Given the description of an element on the screen output the (x, y) to click on. 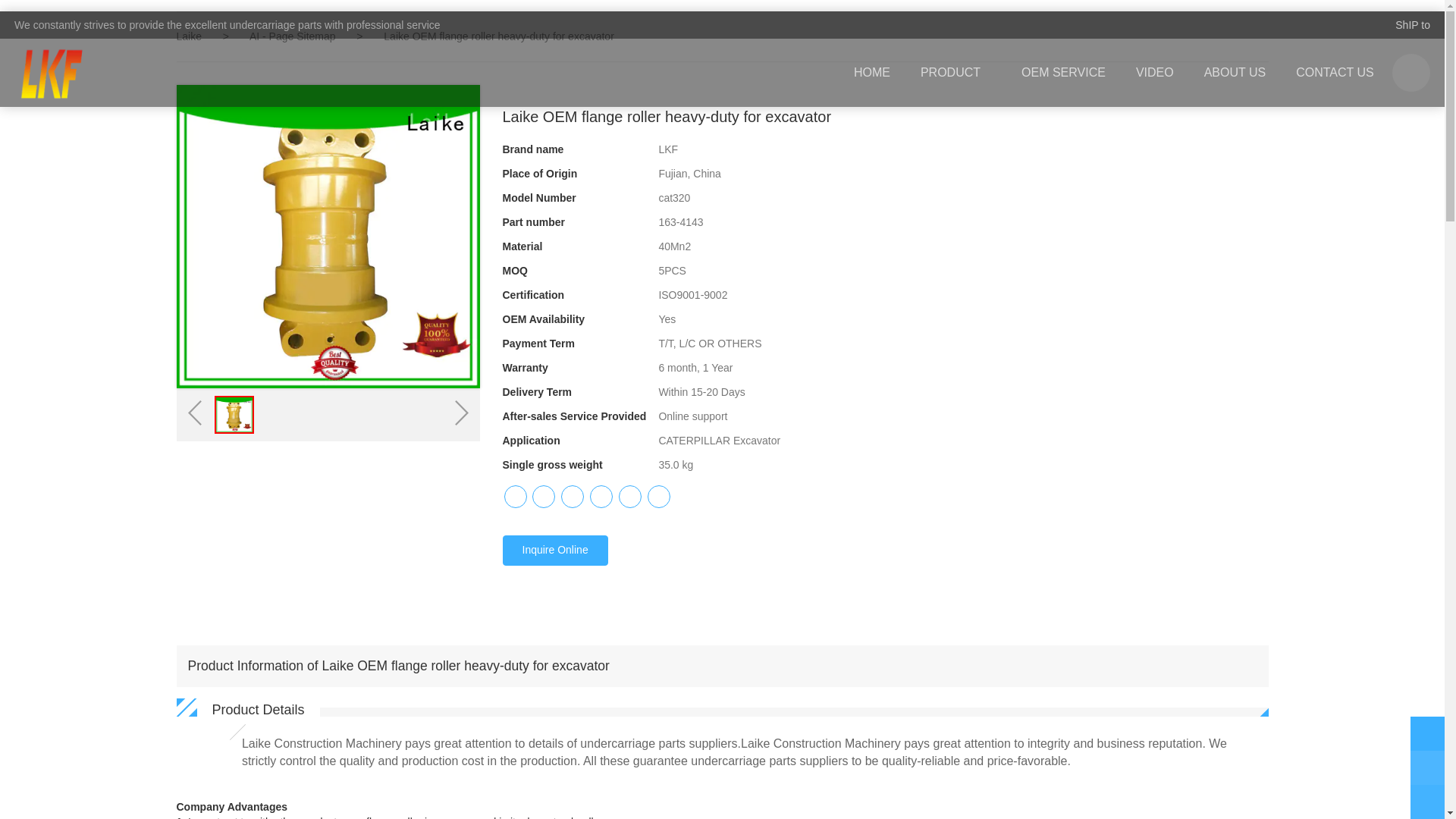
OEM SERVICE (1063, 72)
ABOUT US (1235, 72)
Inquire Online (554, 550)
AI - Page Sitemap (293, 36)
HOME (871, 72)
CONTACT US (1335, 72)
PRODUCT (955, 72)
Laike (188, 36)
VIDEO (1155, 72)
